Given the description of an element on the screen output the (x, y) to click on. 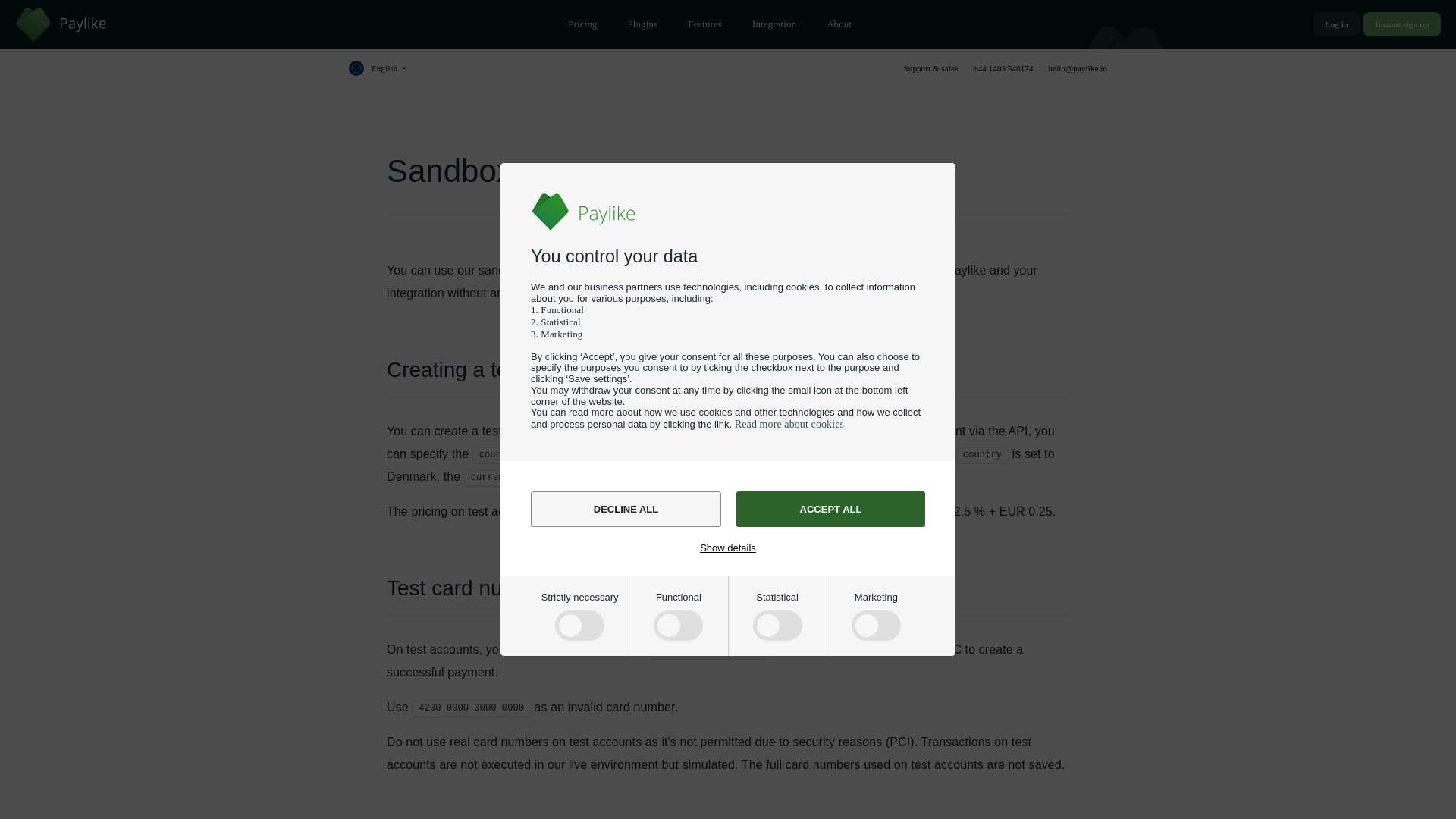
DECLINE ALL (625, 509)
Show details (727, 546)
ACCEPT ALL (830, 509)
Read more about cookies (789, 423)
